Given the description of an element on the screen output the (x, y) to click on. 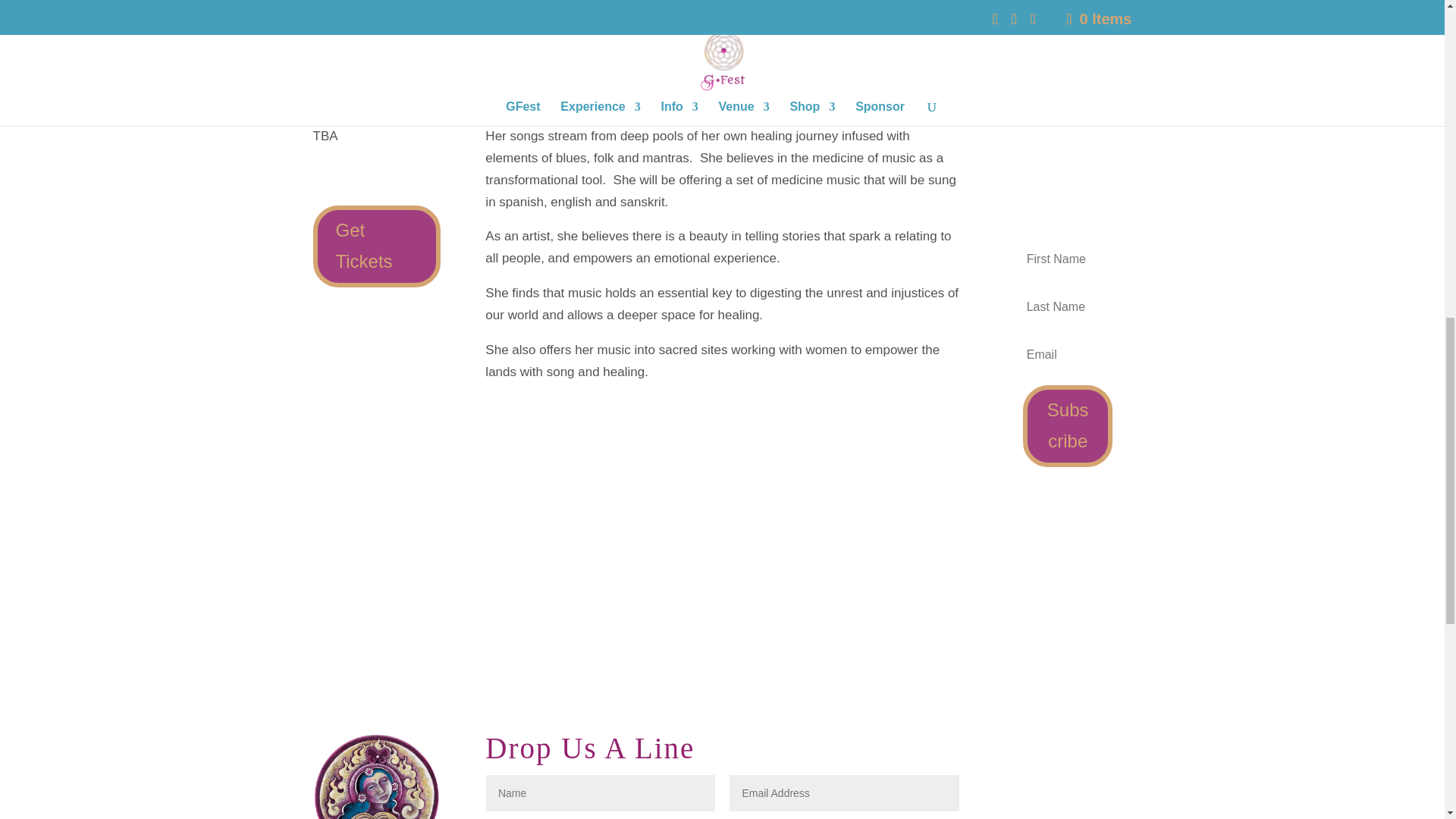
Get Tickets (376, 246)
Subscribe (1067, 425)
Circle Goddess (376, 776)
